Given the description of an element on the screen output the (x, y) to click on. 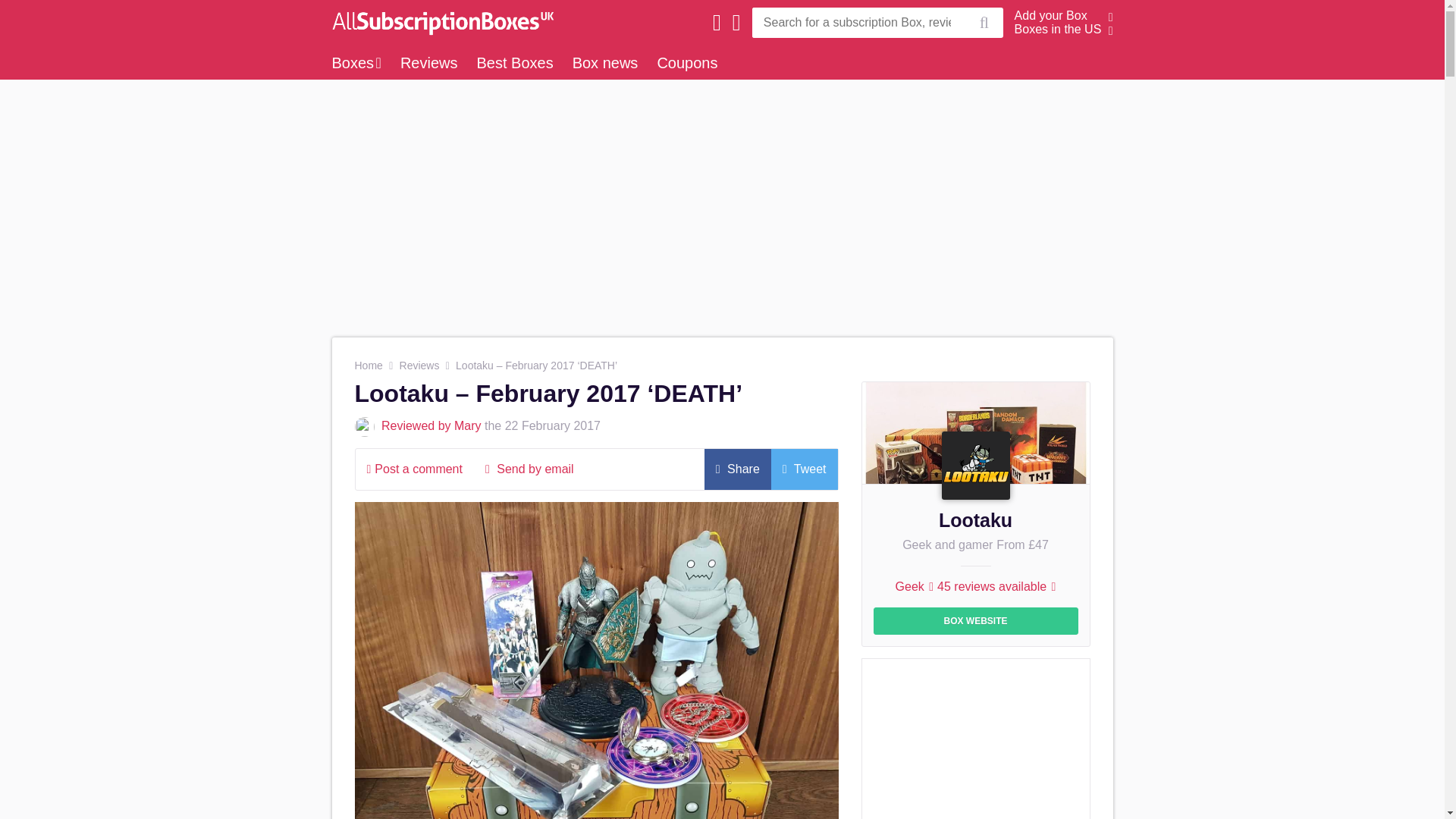
Boxes in the US (1058, 29)
Add your Box (1050, 15)
All Subscription Boxes UK (437, 22)
Search for: (858, 22)
Boxes (356, 62)
